Given the description of an element on the screen output the (x, y) to click on. 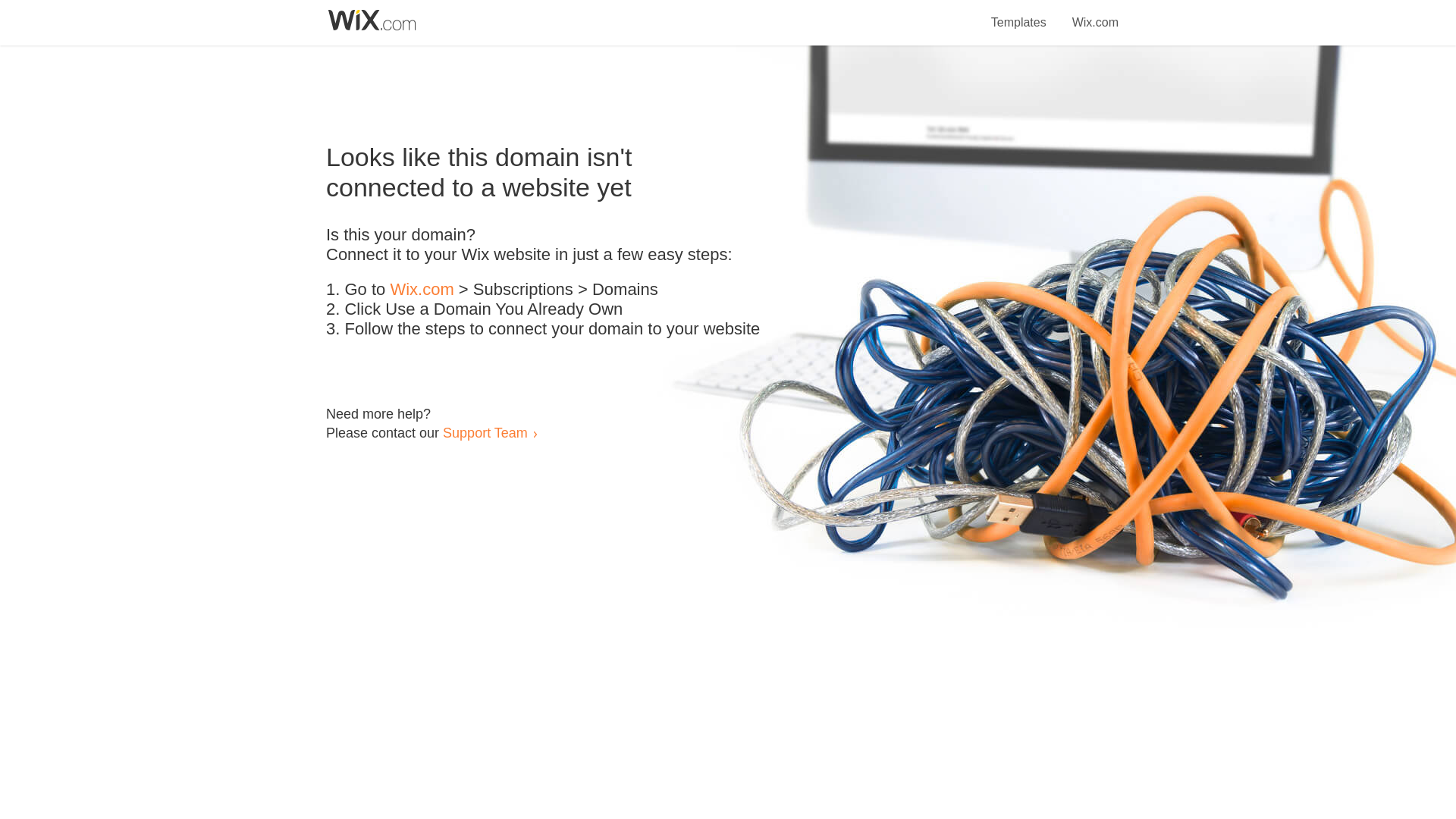
Templates (1018, 14)
Wix.com (421, 289)
Support Team (484, 432)
Wix.com (1095, 14)
